Given the description of an element on the screen output the (x, y) to click on. 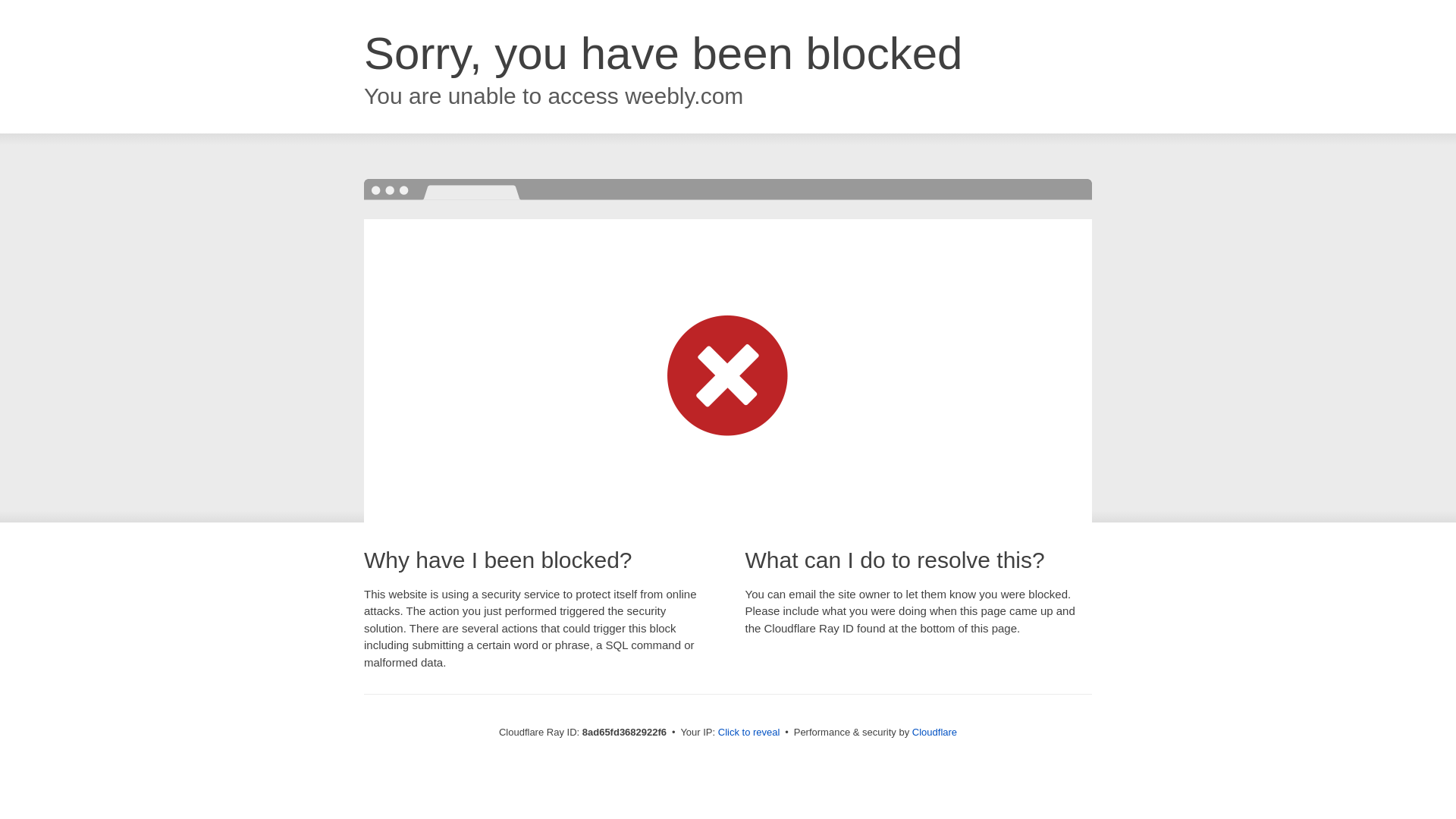
Cloudflare (934, 731)
Click to reveal (748, 732)
